Given the description of an element on the screen output the (x, y) to click on. 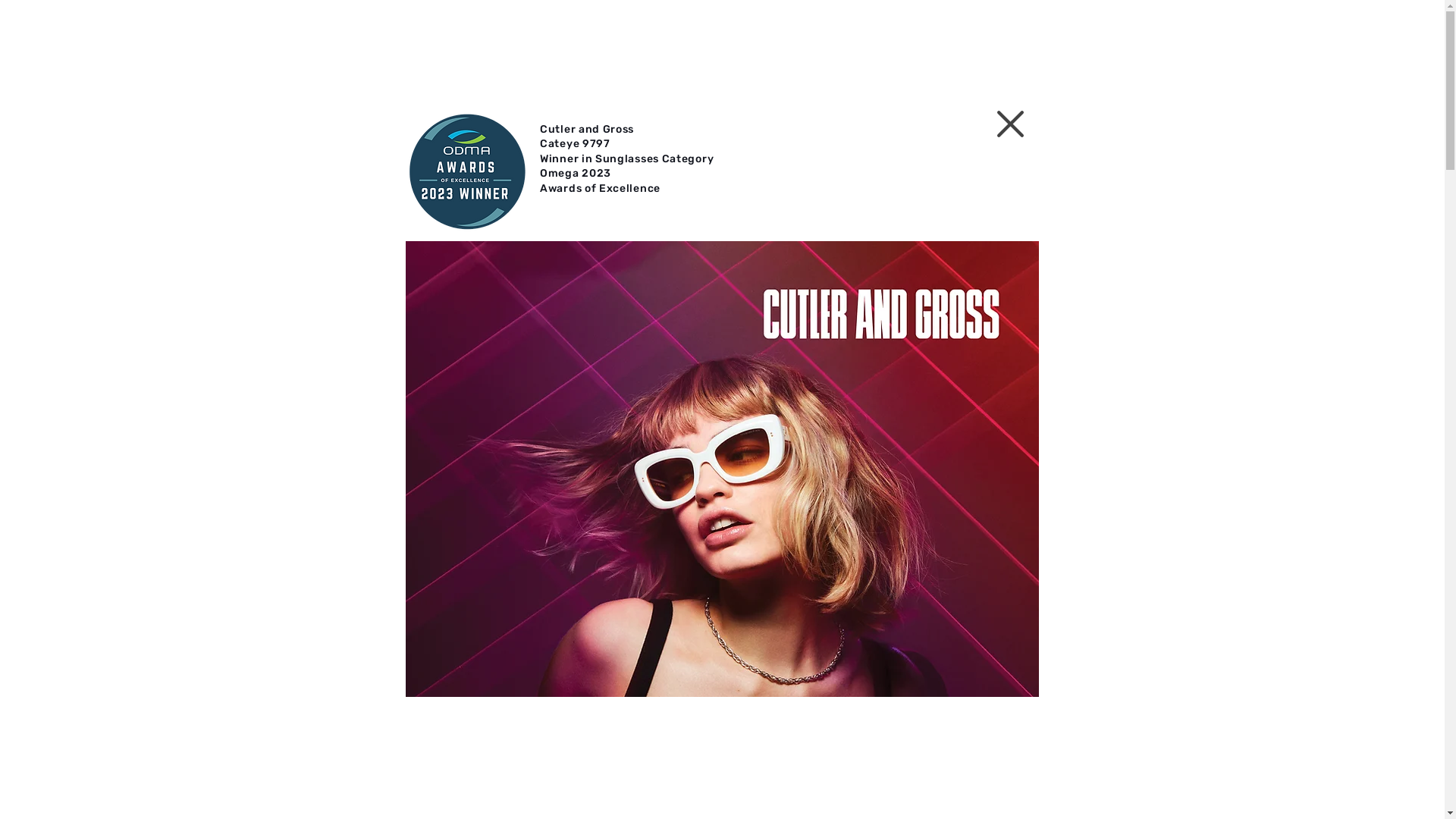
Contact Element type: text (914, 47)
ODMA-2023-Winner-Badge-480px.png Element type: hover (467, 170)
Home Element type: text (462, 47)
Stockists Element type: text (660, 47)
About Element type: text (828, 47)
Press Element type: text (747, 47)
Back to site Element type: hover (1010, 123)
